Given the description of an element on the screen output the (x, y) to click on. 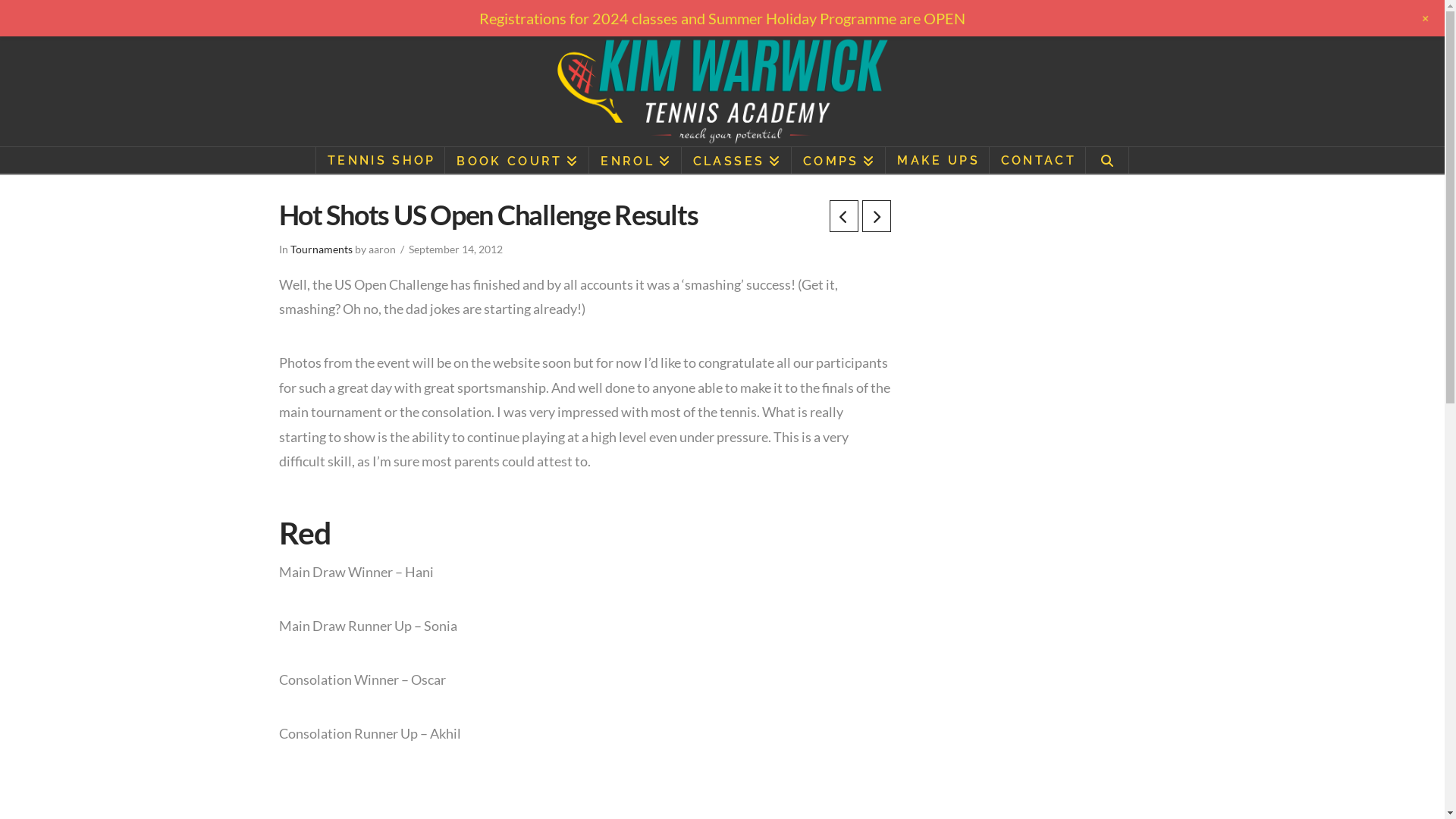
Tournaments Element type: text (320, 249)
ENROL Element type: text (634, 160)
+ Element type: text (1425, 18)
BOOK COURT Element type: text (517, 160)
CONTACT Element type: text (1037, 160)
COMPS Element type: text (838, 160)
MAKE UPS Element type: text (936, 160)
CLASSES Element type: text (736, 160)
TENNIS SHOP Element type: text (380, 160)
